Given the description of an element on the screen output the (x, y) to click on. 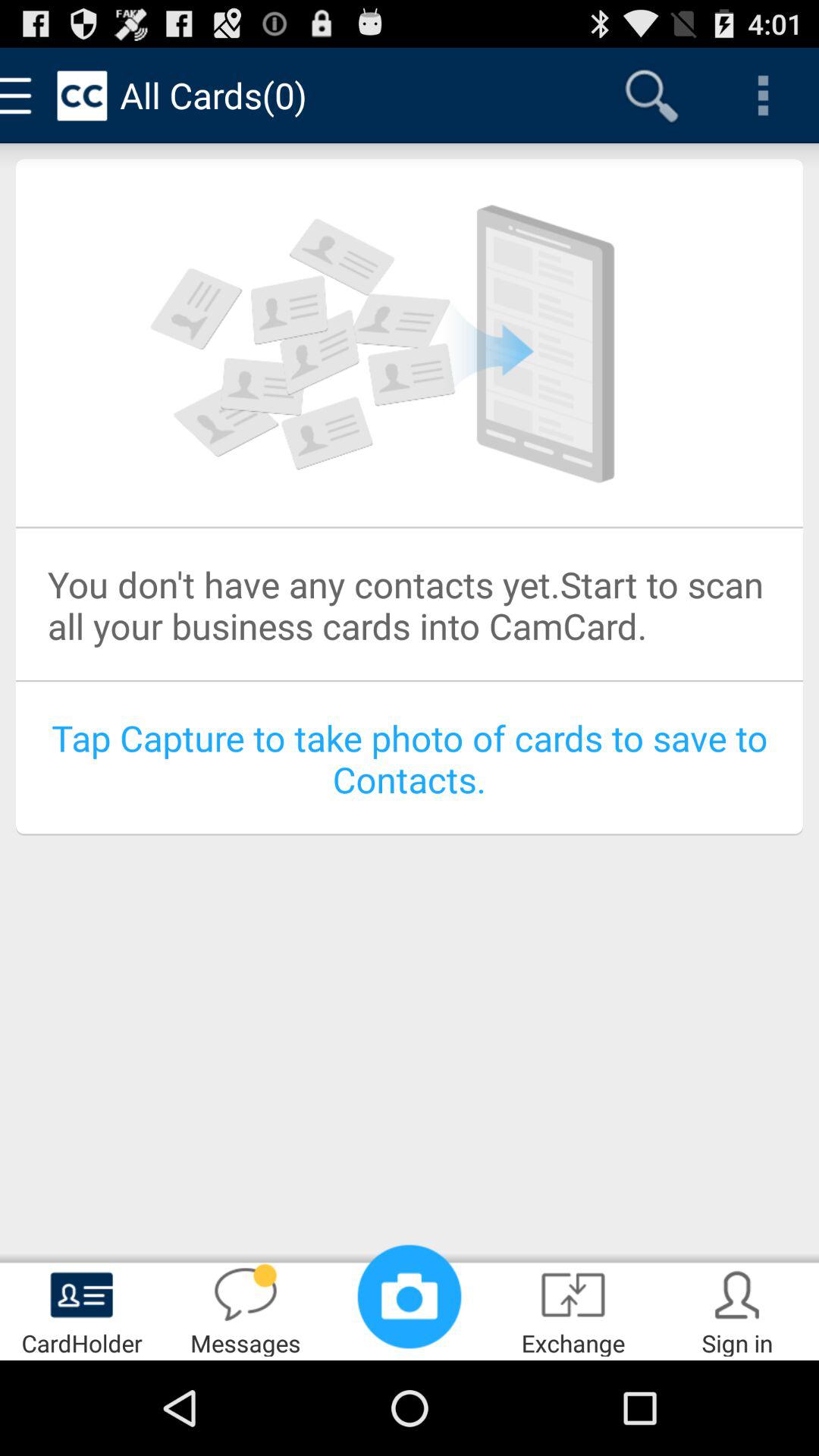
launch tap capture to item (409, 758)
